Given the description of an element on the screen output the (x, y) to click on. 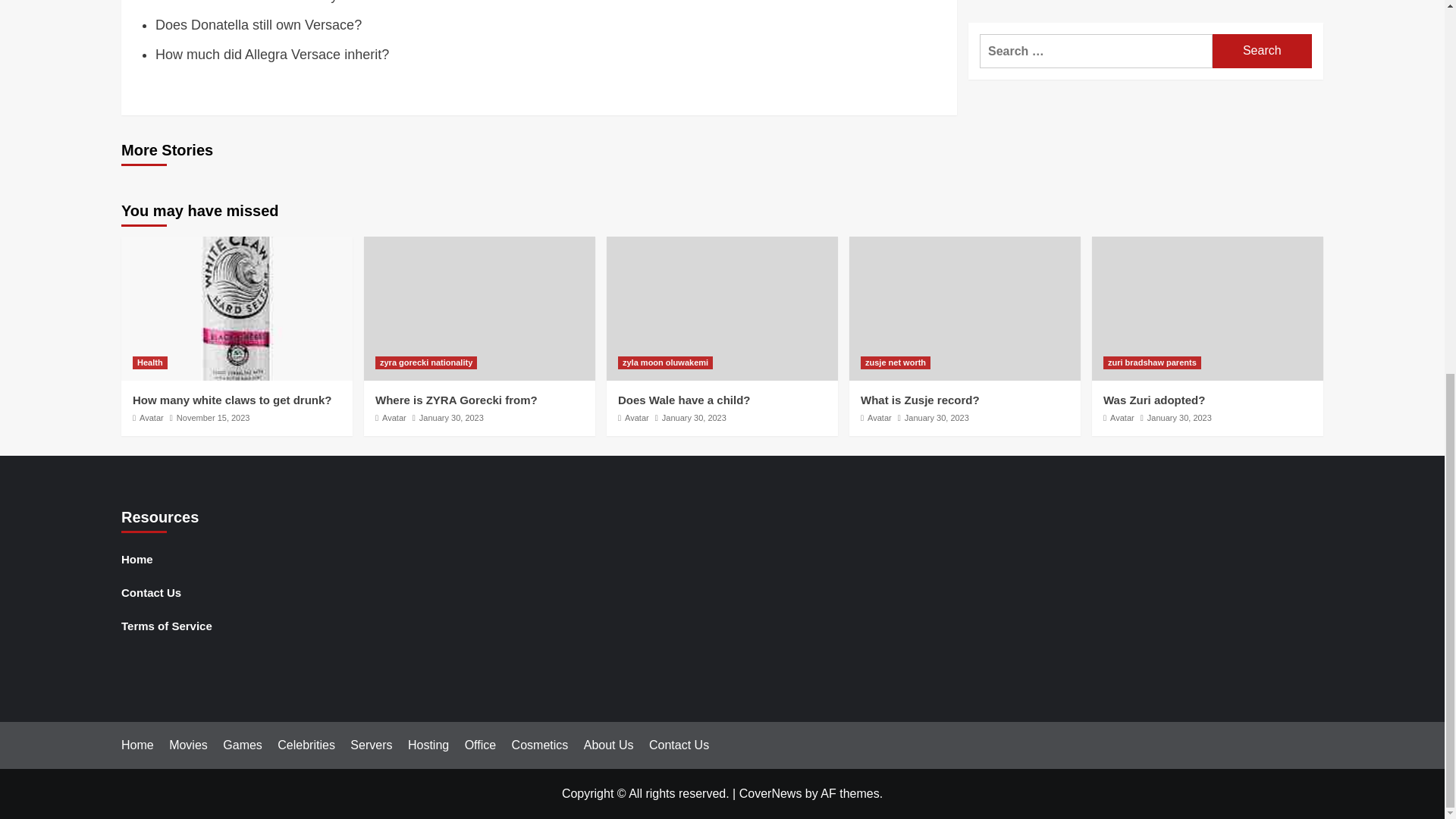
Avatar (636, 417)
January 30, 2023 (694, 417)
Does Wale have a child? (684, 399)
How much did Allegra Versace inherit? (271, 54)
Who inherited Versace money? (250, 1)
Health (149, 362)
Does Donatella still own Versace? (258, 24)
zyra gorecki nationality (426, 362)
zyla moon oluwakemi (665, 362)
Where is ZYRA Gorecki from? (456, 399)
November 15, 2023 (213, 417)
Avatar (151, 417)
How many white claws to get drunk? (231, 399)
January 30, 2023 (451, 417)
Avatar (393, 417)
